Given the description of an element on the screen output the (x, y) to click on. 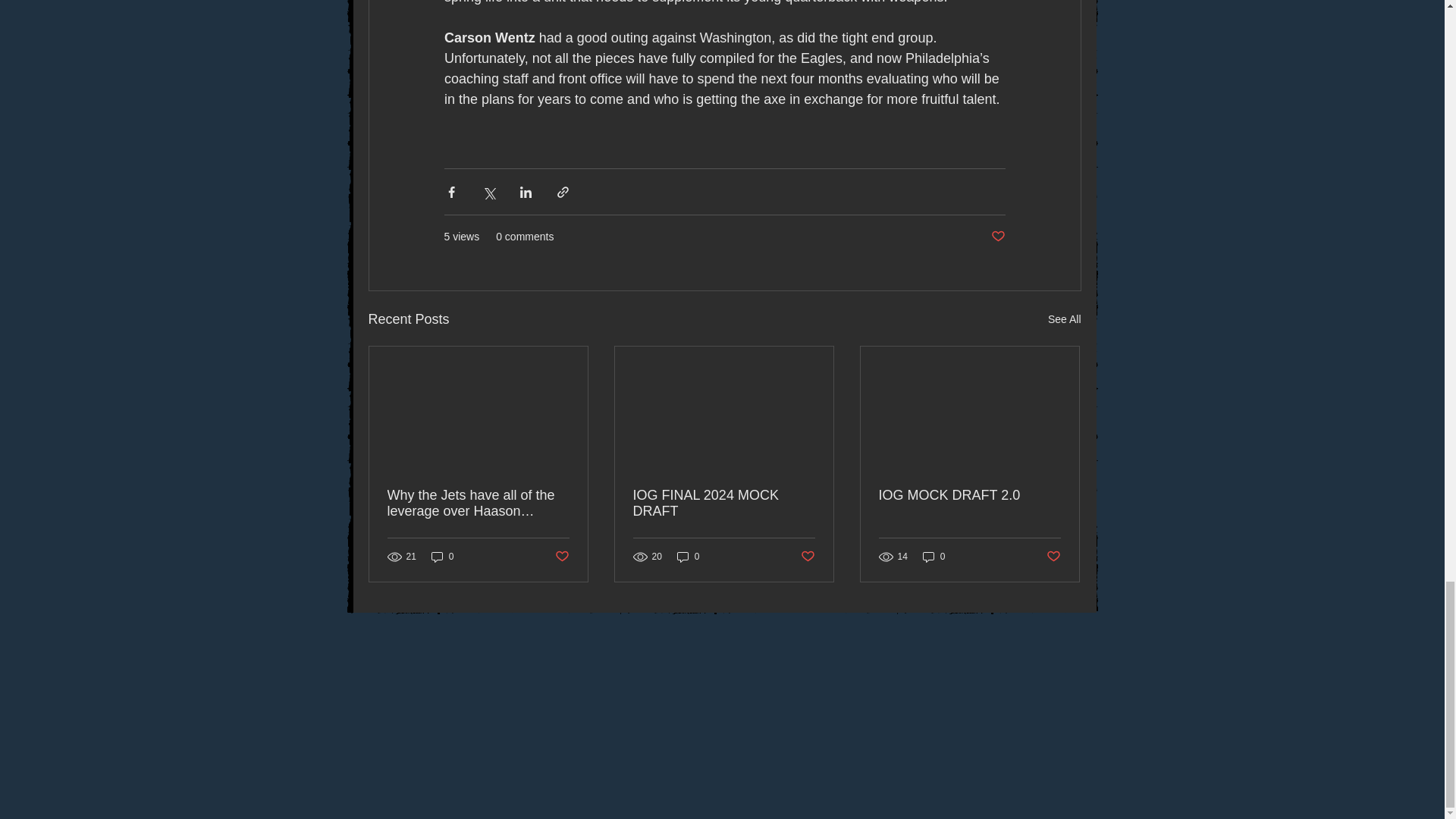
See All (1064, 319)
0 (442, 556)
0 (688, 556)
Post not marked as liked (807, 556)
Why the Jets have all of the leverage over Haason Reddick (478, 503)
Post not marked as liked (561, 556)
IOG FINAL 2024 MOCK DRAFT (722, 503)
Post not marked as liked (997, 236)
